Given the description of an element on the screen output the (x, y) to click on. 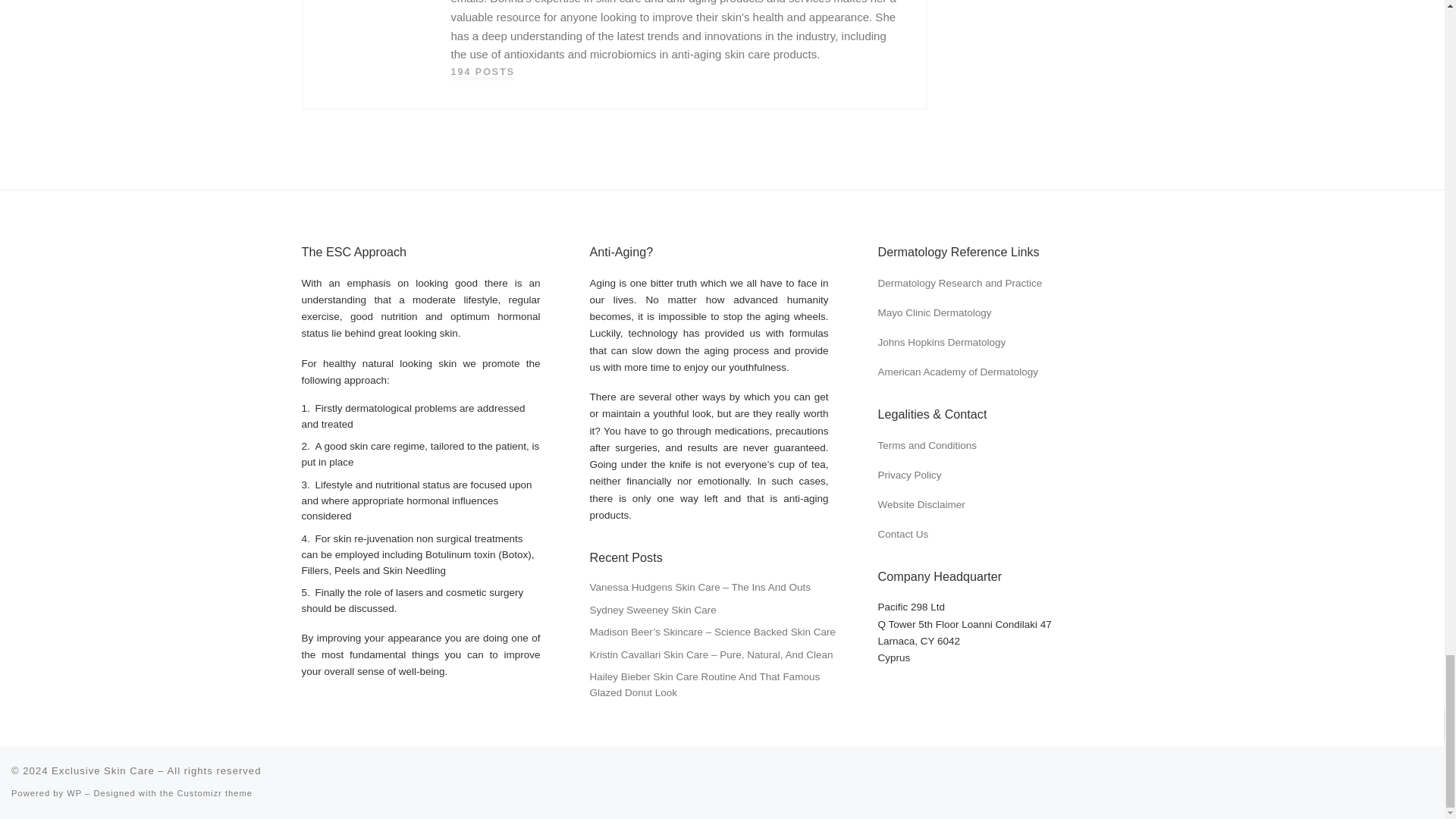
194 POSTS (482, 72)
View all the posts of the author (482, 72)
